Given the description of an element on the screen output the (x, y) to click on. 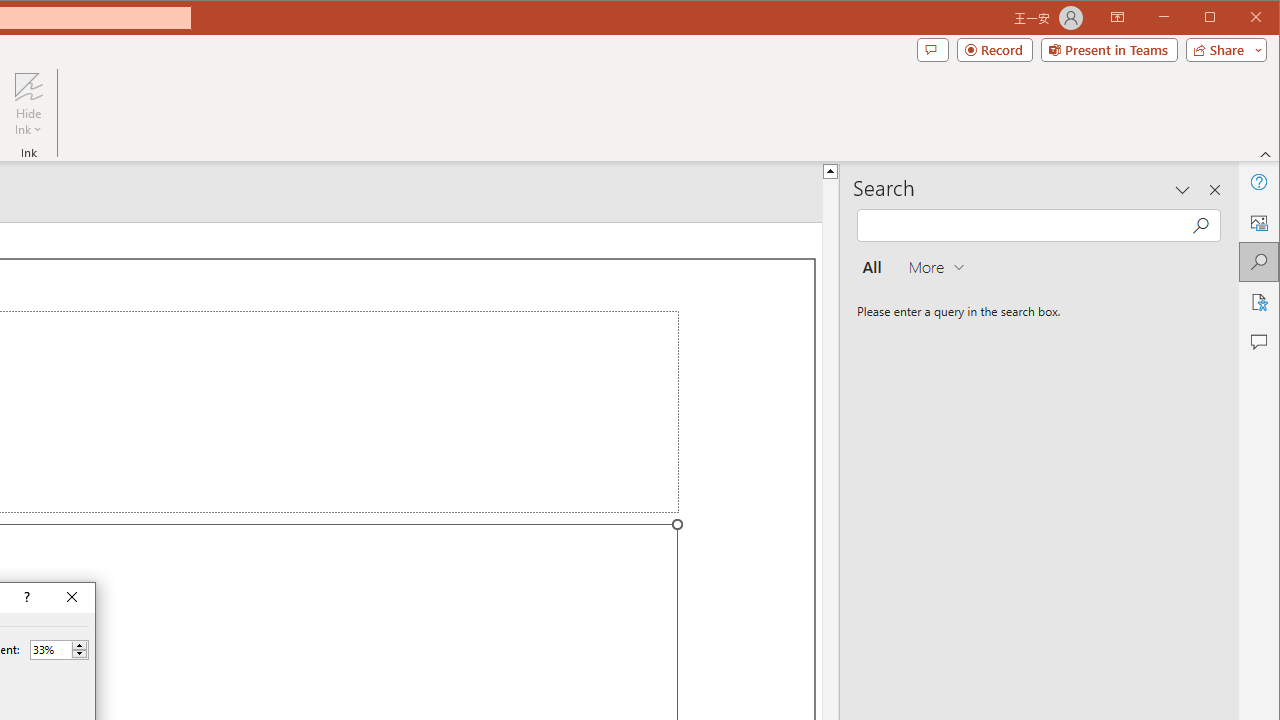
Context help (25, 597)
